Given the description of an element on the screen output the (x, y) to click on. 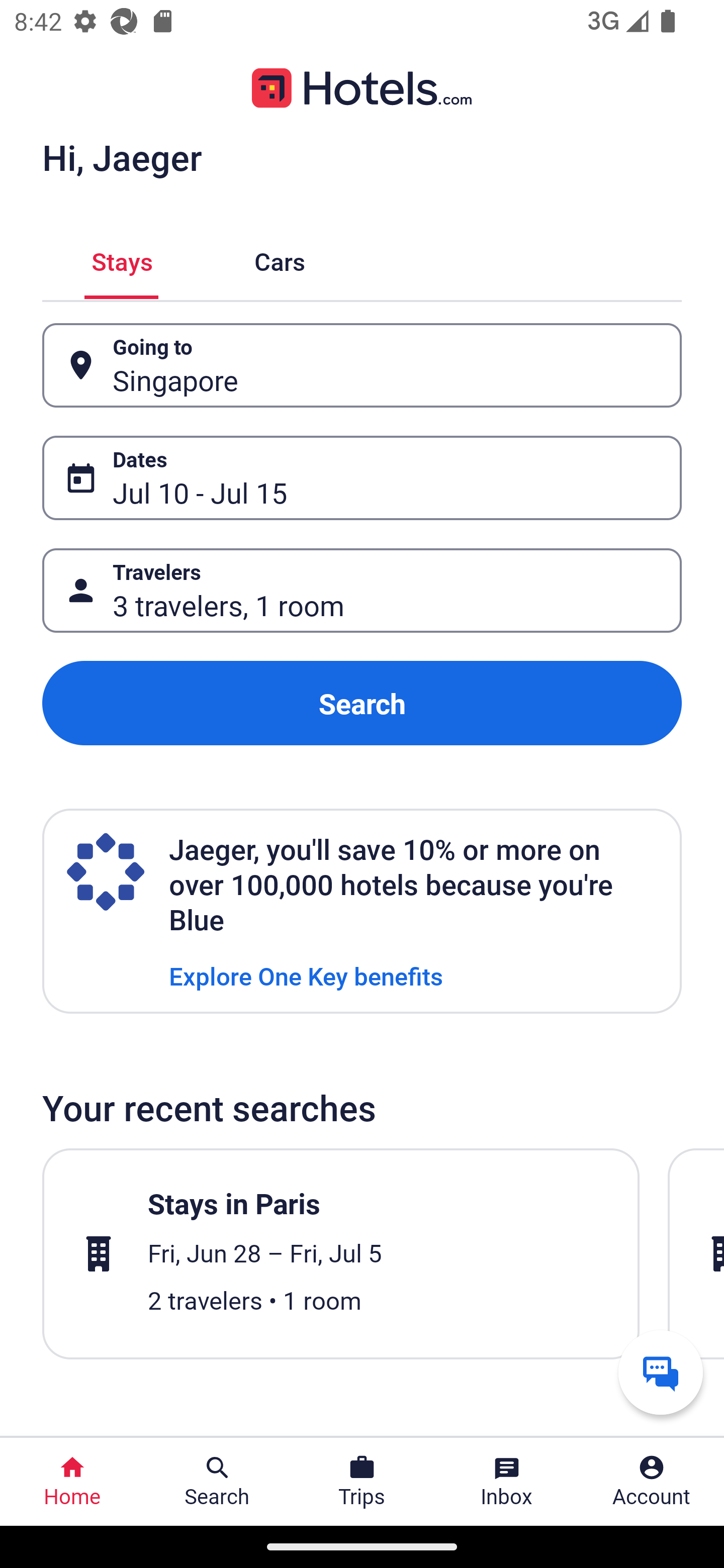
Hi, Jaeger (121, 156)
Cars (279, 259)
Going to Button Singapore (361, 365)
Dates Button Jul 10 - Jul 15 (361, 477)
Travelers Button 3 travelers, 1 room (361, 590)
Search (361, 702)
Get help from a virtual agent (660, 1371)
Search Search Button (216, 1481)
Trips Trips Button (361, 1481)
Inbox Inbox Button (506, 1481)
Account Profile. Button (651, 1481)
